Given the description of an element on the screen output the (x, y) to click on. 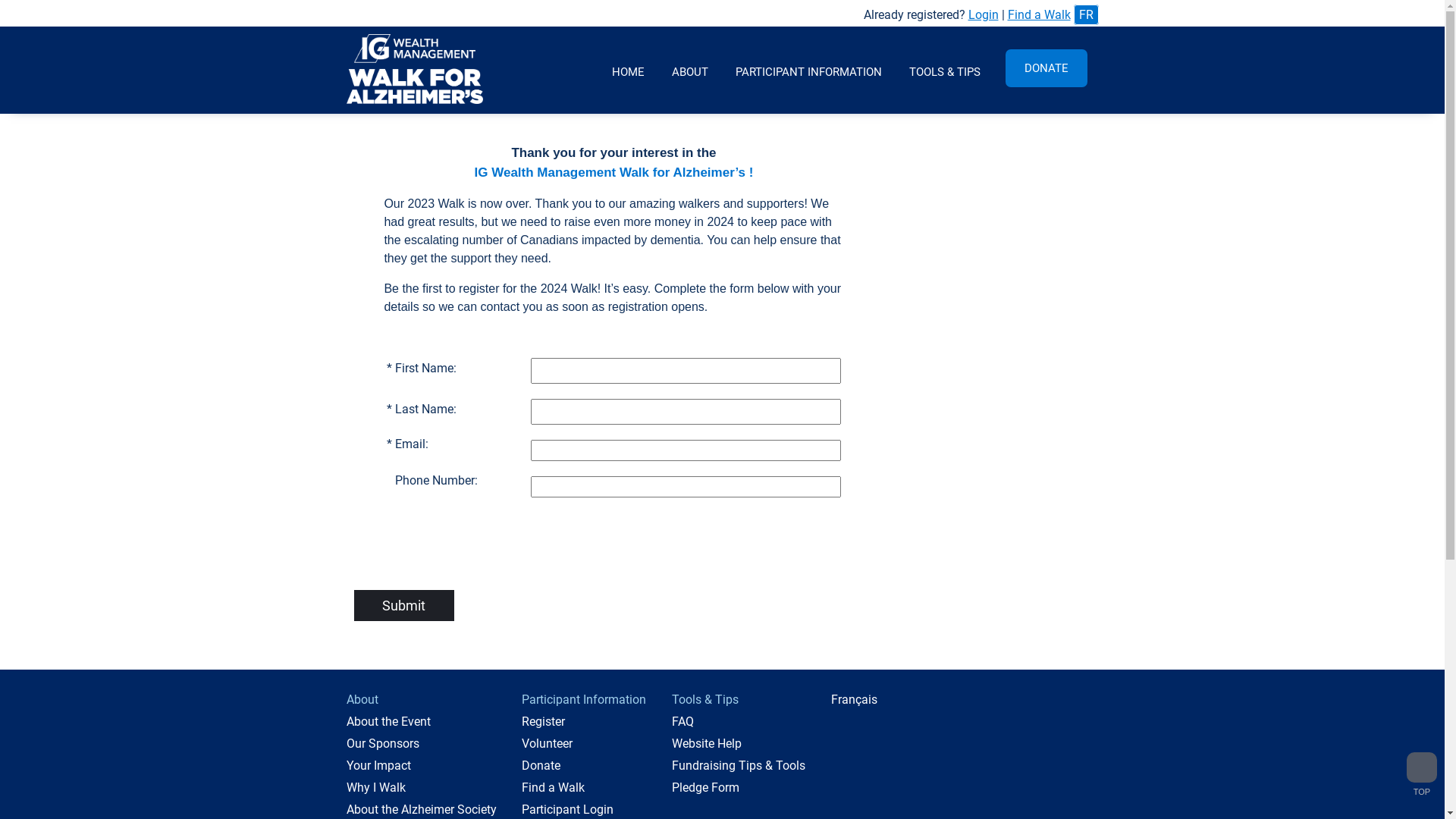
PARTICIPANT INFORMATION Element type: text (808, 69)
Your Impact Element type: text (377, 765)
DONATE Element type: text (1046, 68)
Login Element type: text (982, 14)
ABOUT Element type: text (689, 69)
Skip Survey Element type: text (50, 15)
HOME Element type: text (627, 69)
Pledge Form Element type: text (705, 787)
FR Element type: text (1085, 14)
Participant Login Element type: text (567, 809)
Website Help Element type: text (706, 743)
TOP Element type: text (1421, 774)
Fundraising Tips & Tools Element type: text (738, 765)
Find a Walk Element type: text (1038, 14)
Volunteer Element type: text (546, 743)
Why I Walk Element type: text (374, 787)
Donate Element type: text (540, 765)
TOOLS & TIPS Element type: text (943, 69)
Our Sponsors Element type: text (381, 743)
About the Alzheimer Society Element type: text (420, 809)
FAQ Element type: text (682, 721)
About the Event Element type: text (387, 721)
Register Element type: text (542, 721)
Find a Walk Element type: text (552, 787)
Submit Element type: text (403, 605)
